Given the description of an element on the screen output the (x, y) to click on. 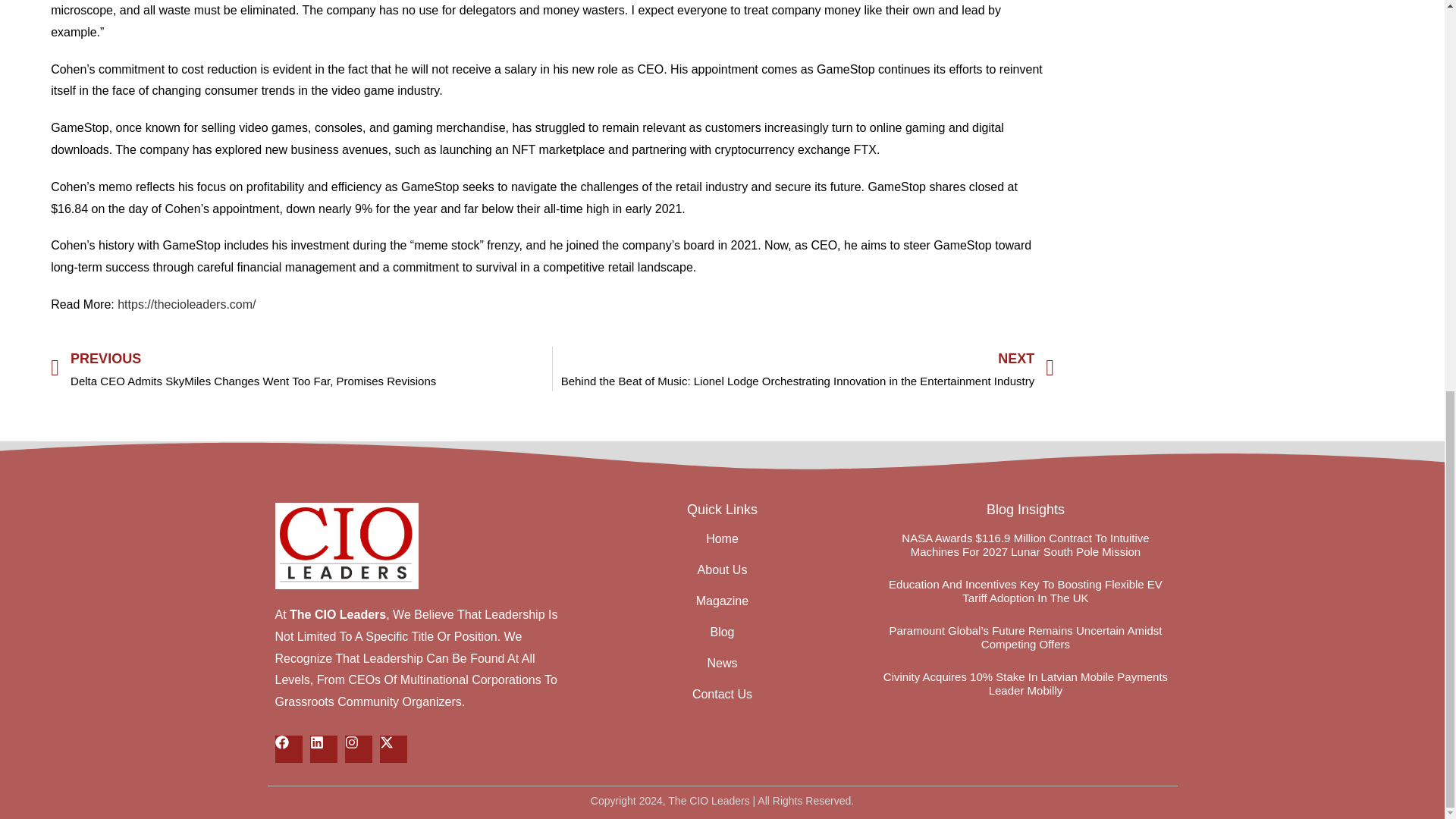
Contact Us (722, 694)
About Us (722, 570)
News (722, 663)
Magazine (722, 601)
Blog (722, 631)
Home (722, 539)
